Given the description of an element on the screen output the (x, y) to click on. 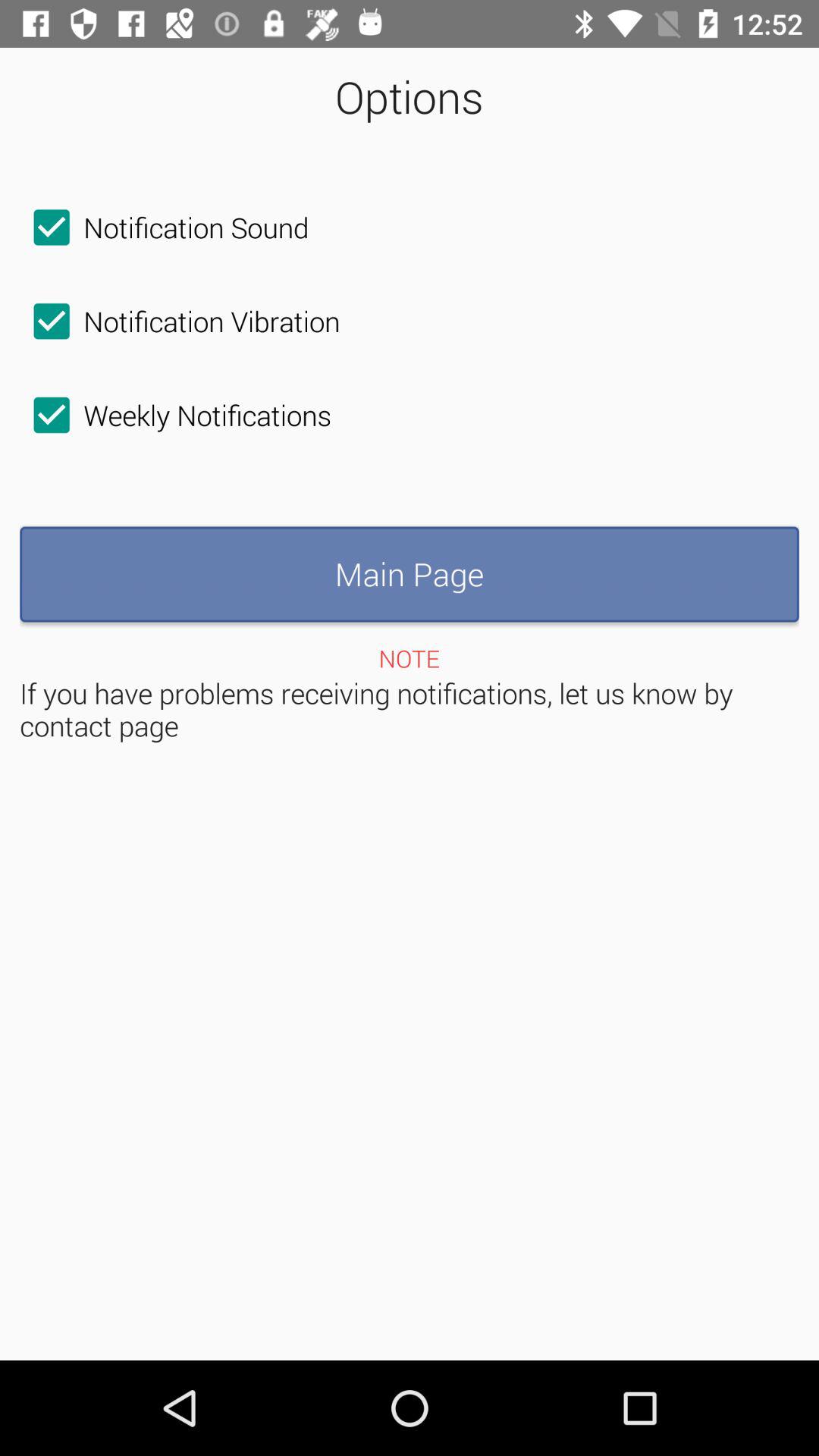
select icon above main page icon (175, 415)
